Given the description of an element on the screen output the (x, y) to click on. 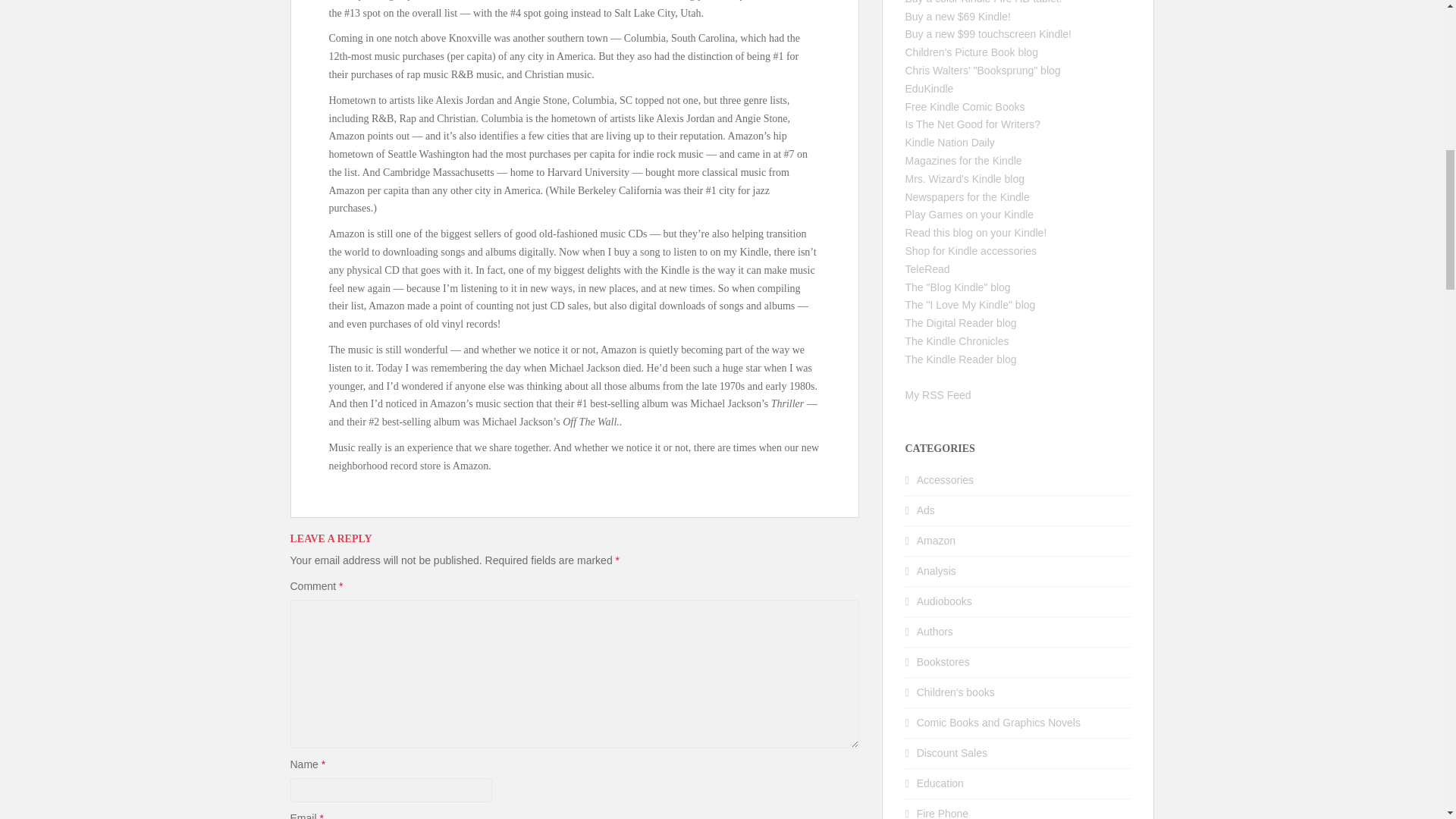
Read this blog on your Kindle! (975, 232)
Children's Picture Book blog (971, 51)
The Kindle Reader blog (960, 358)
Play Games on your Kindle (969, 214)
Free Kindle Comic Books (965, 106)
Magazines for the Kindle (963, 160)
Buy a color Kindle Fire HD tablet! (983, 2)
The "Blog Kindle" blog (957, 287)
The Digital Reader blog (960, 322)
Newspapers for the Kindle (967, 196)
